Given the description of an element on the screen output the (x, y) to click on. 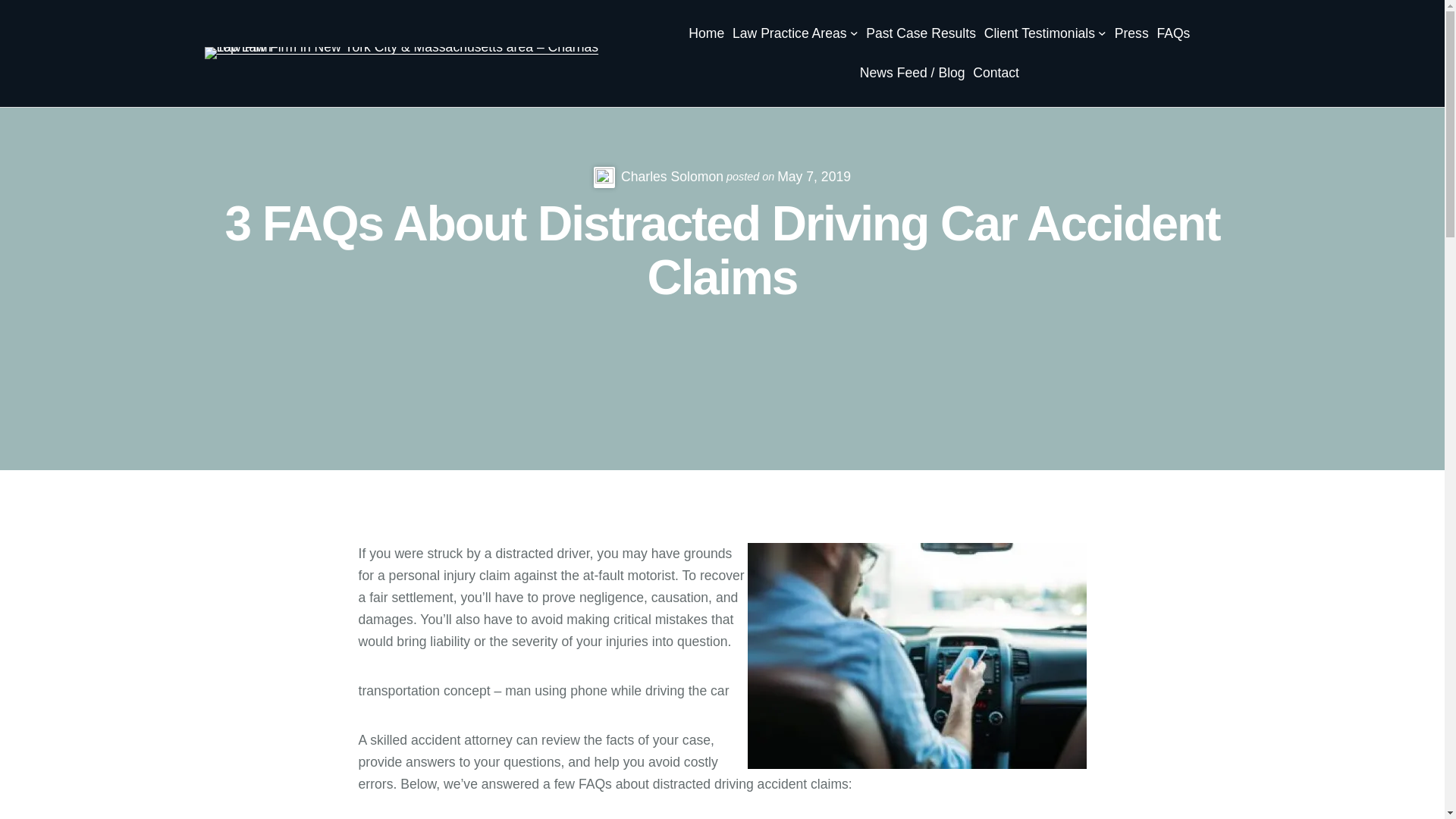
Home (705, 33)
Client Testimonials (1039, 33)
Law Practice Areas (789, 33)
FAQs (1172, 33)
Press (1131, 33)
Contact (995, 73)
Past Case Results (920, 33)
